Given the description of an element on the screen output the (x, y) to click on. 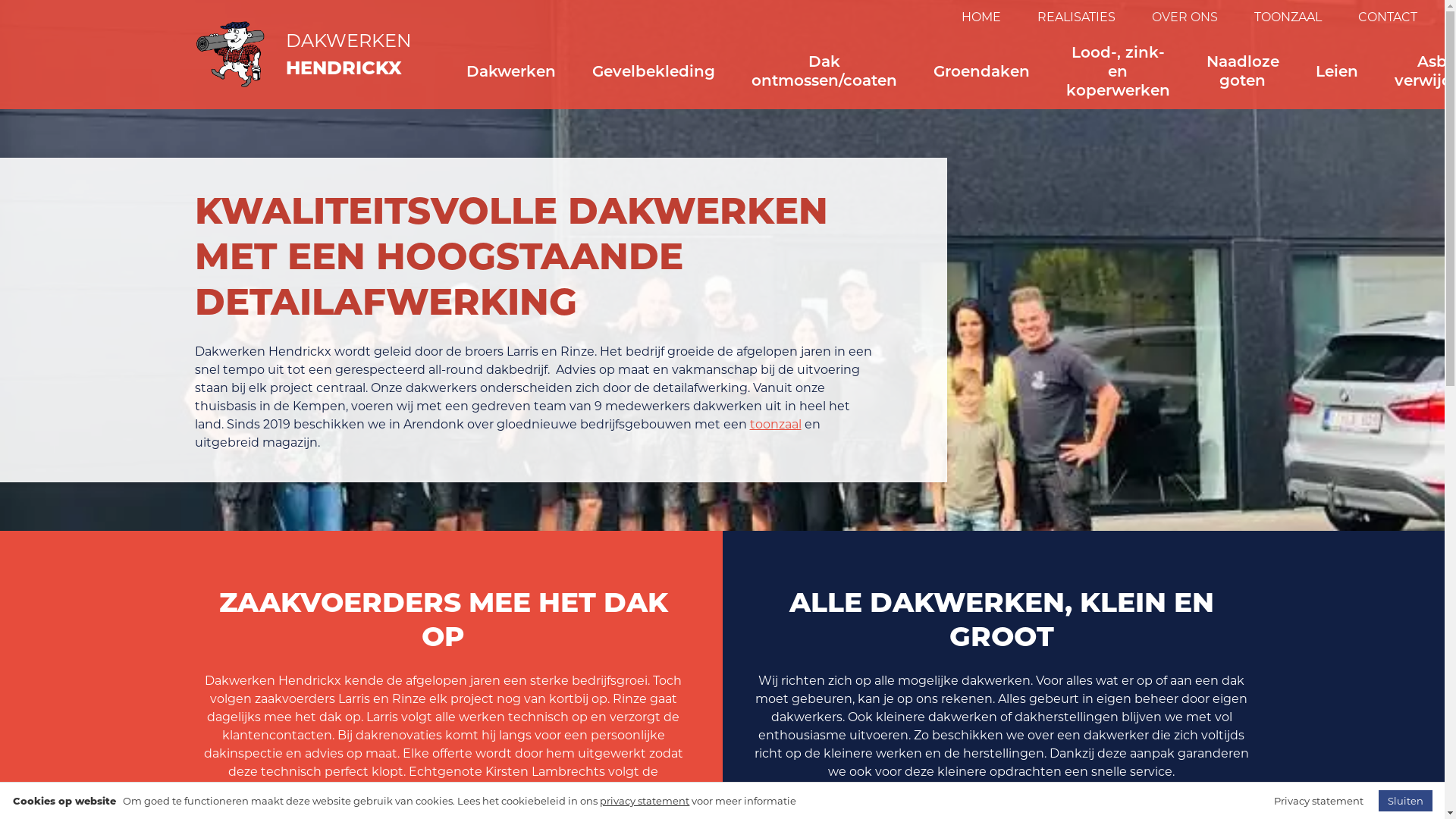
Naadloze goten Element type: text (1241, 70)
privacy statement Element type: text (644, 800)
CONTACT Element type: text (1377, 16)
Privacy statement Element type: text (1318, 800)
DAKWERKEN
HENDRICKX Element type: text (302, 54)
Gevelbekleding Element type: text (652, 70)
OVER ONS Element type: text (1183, 16)
REALISATIES Element type: text (1076, 16)
Sluiten Element type: text (1405, 800)
TOONZAAL Element type: text (1287, 16)
toonzaal Element type: text (774, 424)
Dak ontmossen/coaten Element type: text (823, 70)
Leien Element type: text (1335, 70)
Groendaken Element type: text (980, 70)
Dakwerken Element type: text (510, 70)
Lood-, zink- en koperwerken Element type: text (1118, 70)
HOME Element type: text (981, 16)
